Given the description of an element on the screen output the (x, y) to click on. 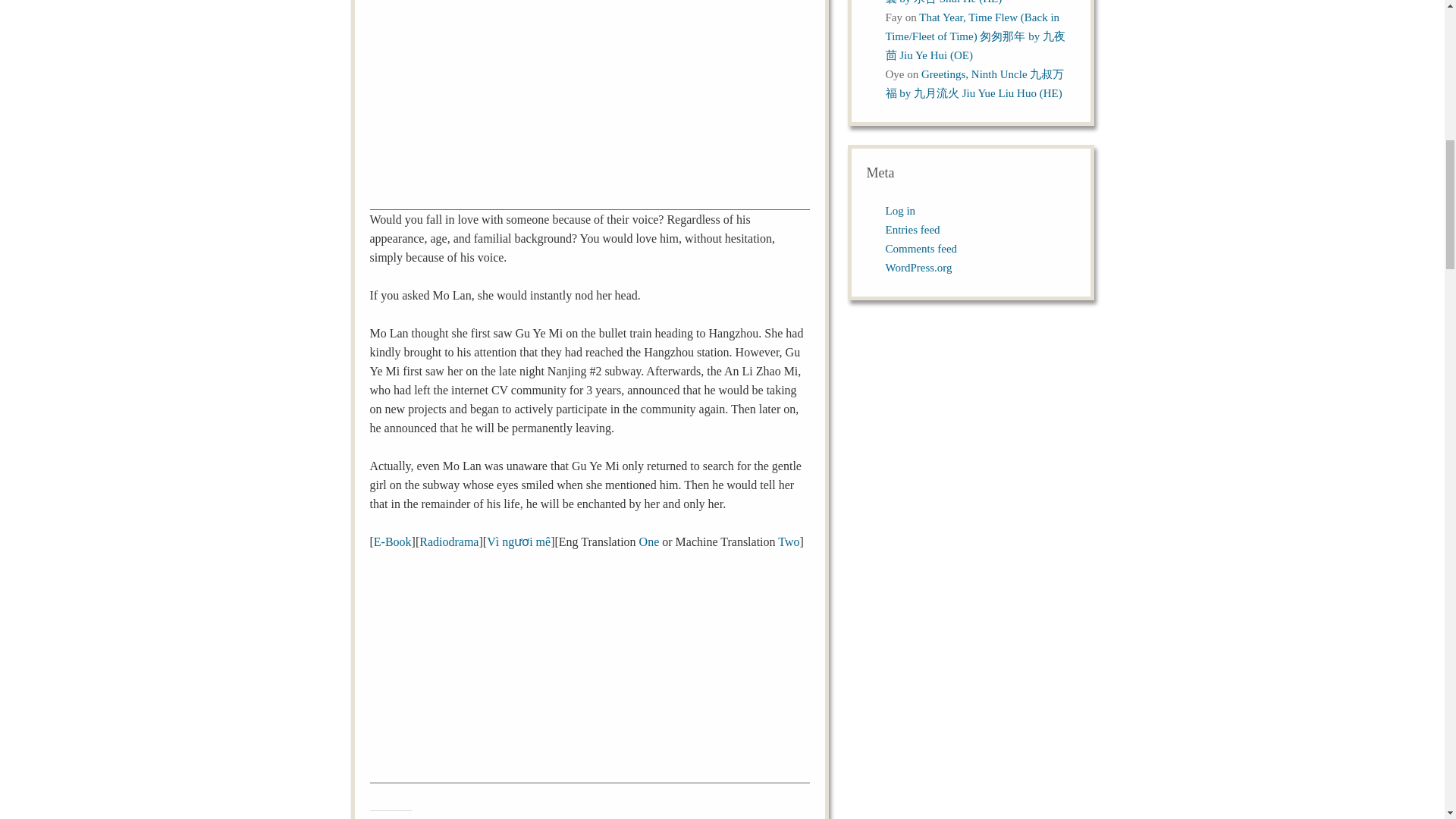
Two (788, 541)
Radiodrama (449, 541)
One (649, 541)
E-Book (393, 541)
